Given the description of an element on the screen output the (x, y) to click on. 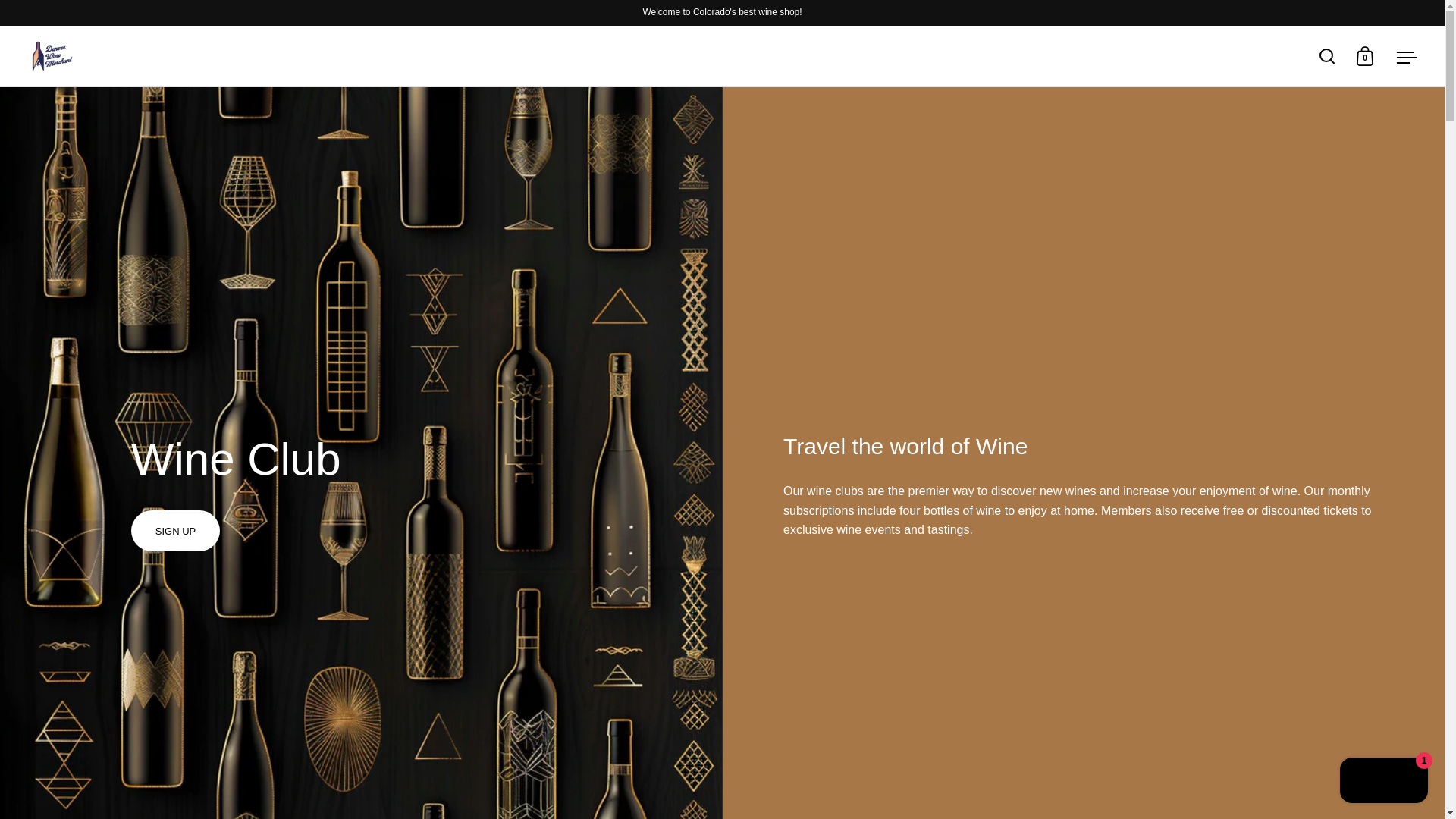
Open search (1326, 55)
Shopify online store chat (1383, 781)
Open menu (1406, 55)
Open cart (1364, 55)
Sign up (175, 530)
SIGN UP (175, 530)
Open menu (1406, 55)
